Given the description of an element on the screen output the (x, y) to click on. 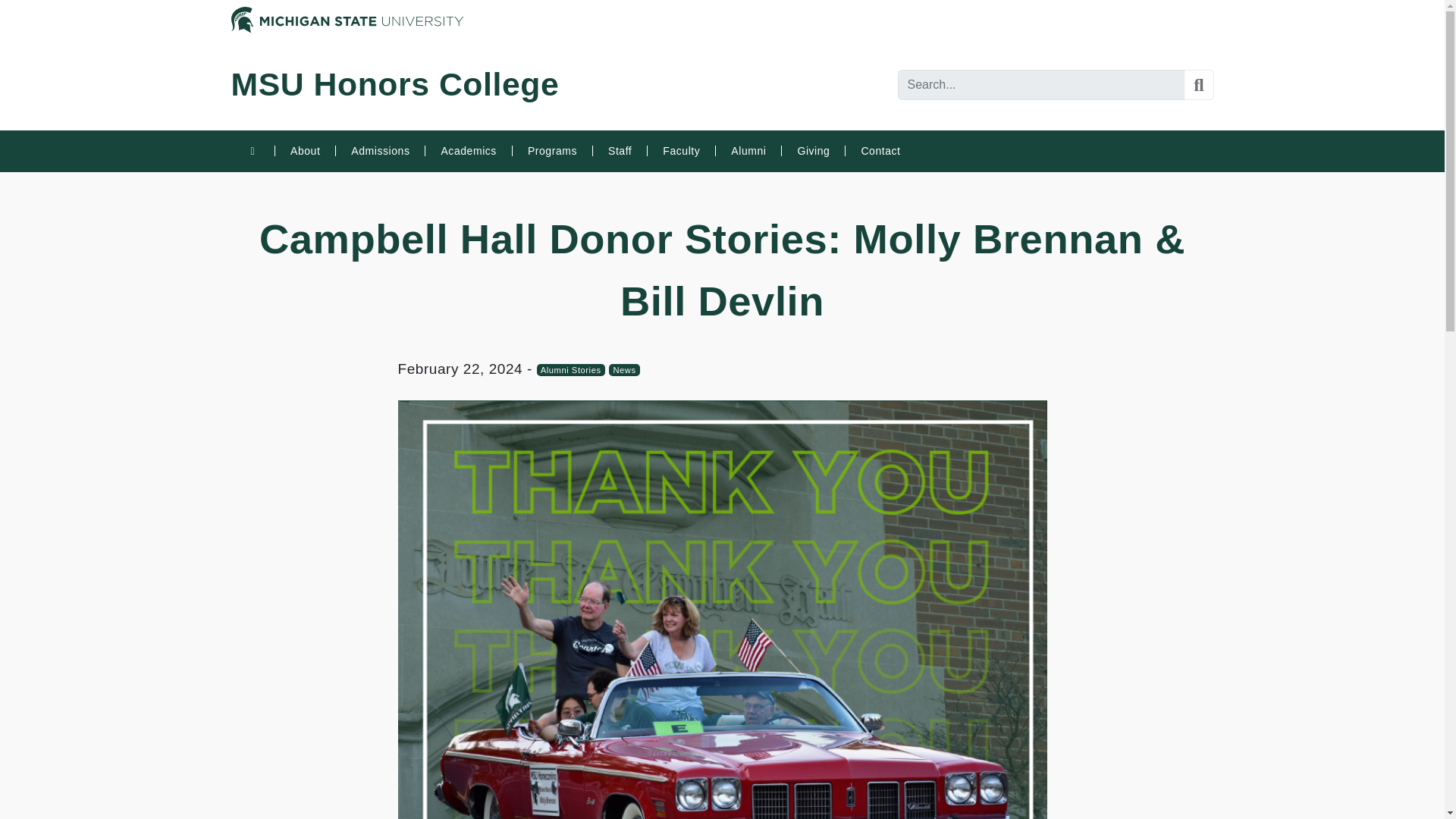
Search (1198, 84)
Admissions (379, 150)
Programs (552, 150)
Academics (468, 150)
About (304, 150)
MSU Honors College (394, 90)
Michigan State University (346, 18)
